Given the description of an element on the screen output the (x, y) to click on. 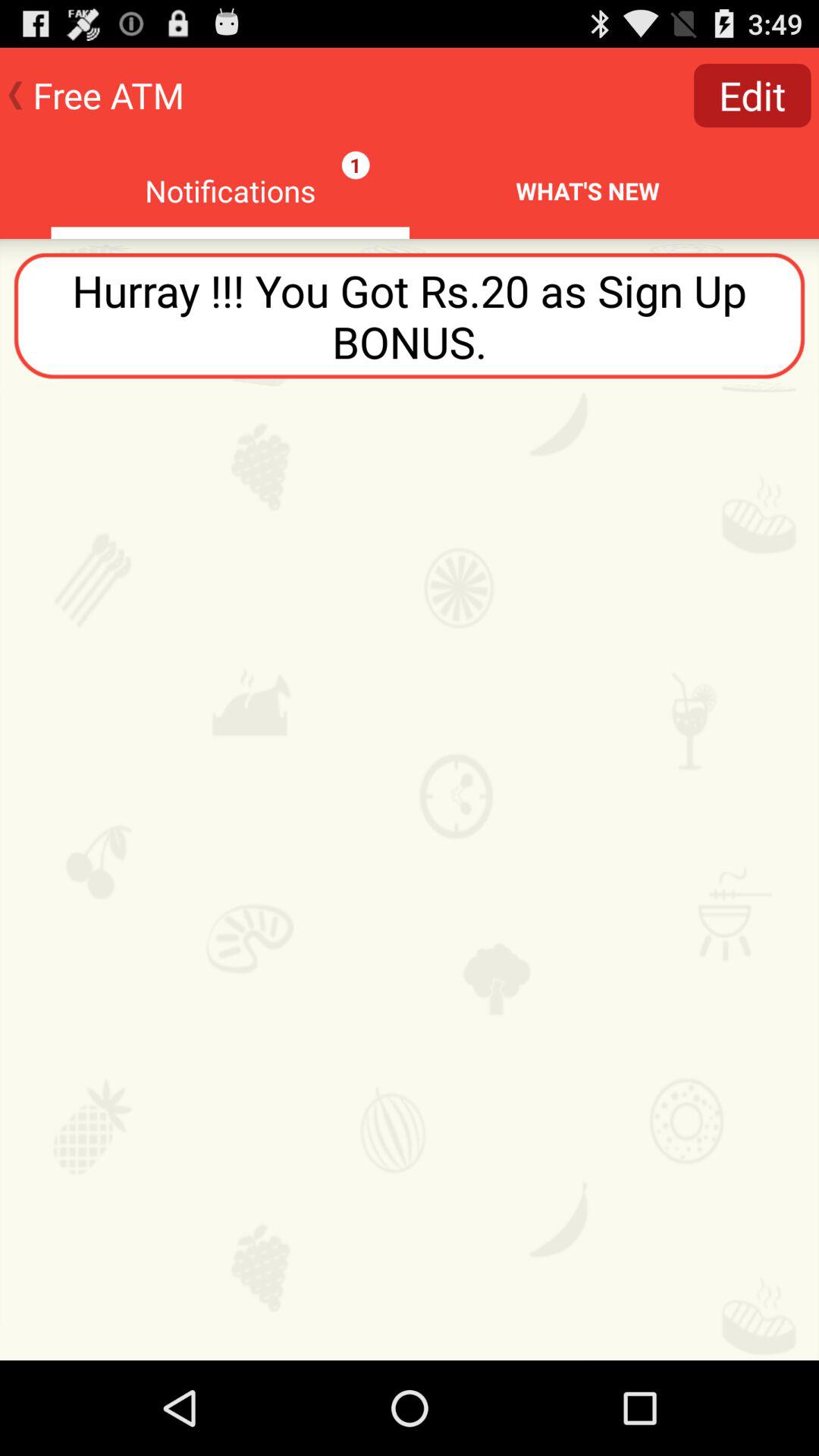
choose the app above hurray you got icon (752, 95)
